Given the description of an element on the screen output the (x, y) to click on. 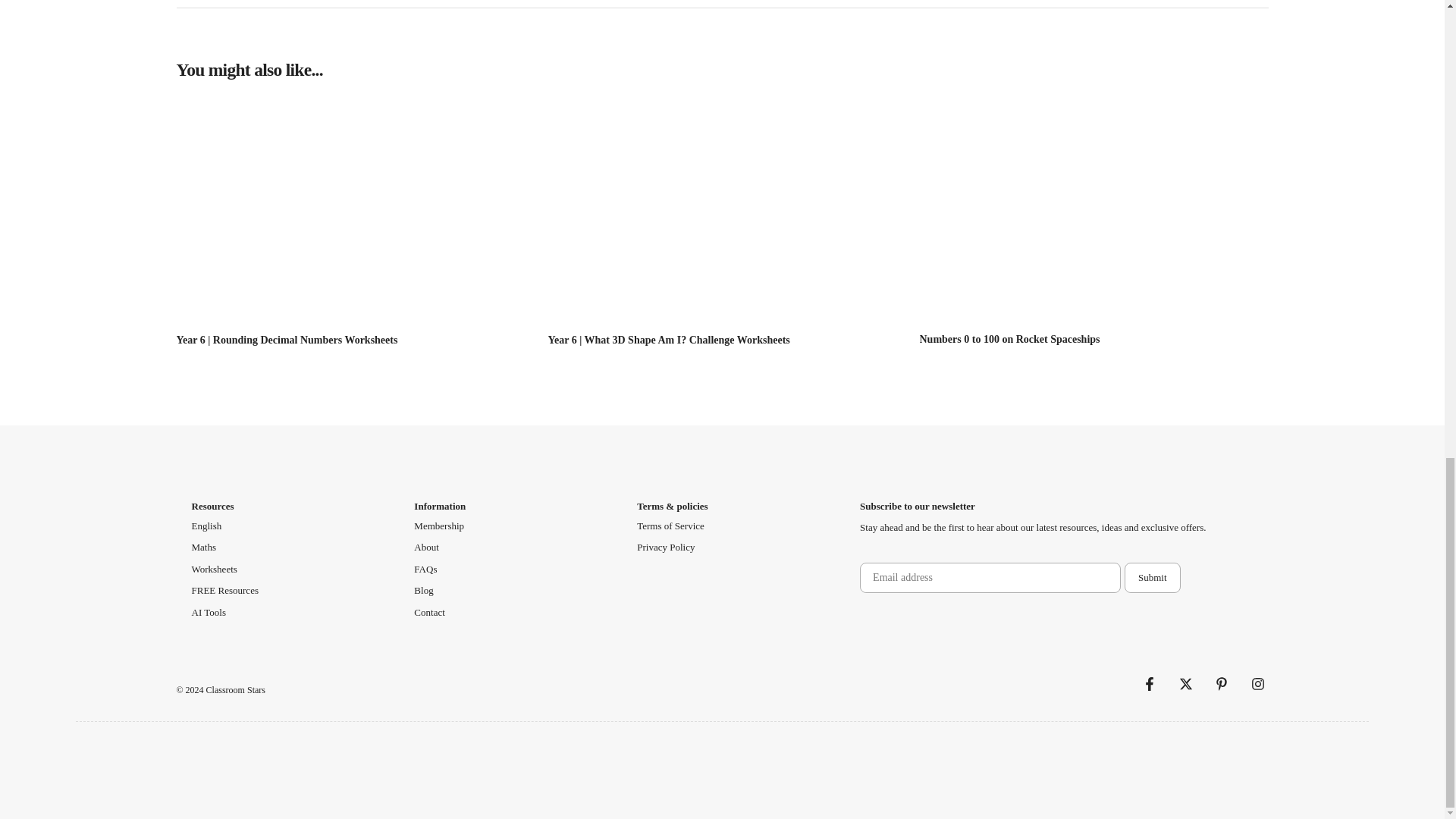
Worksheets (212, 569)
English (205, 525)
Maths (202, 547)
